Given the description of an element on the screen output the (x, y) to click on. 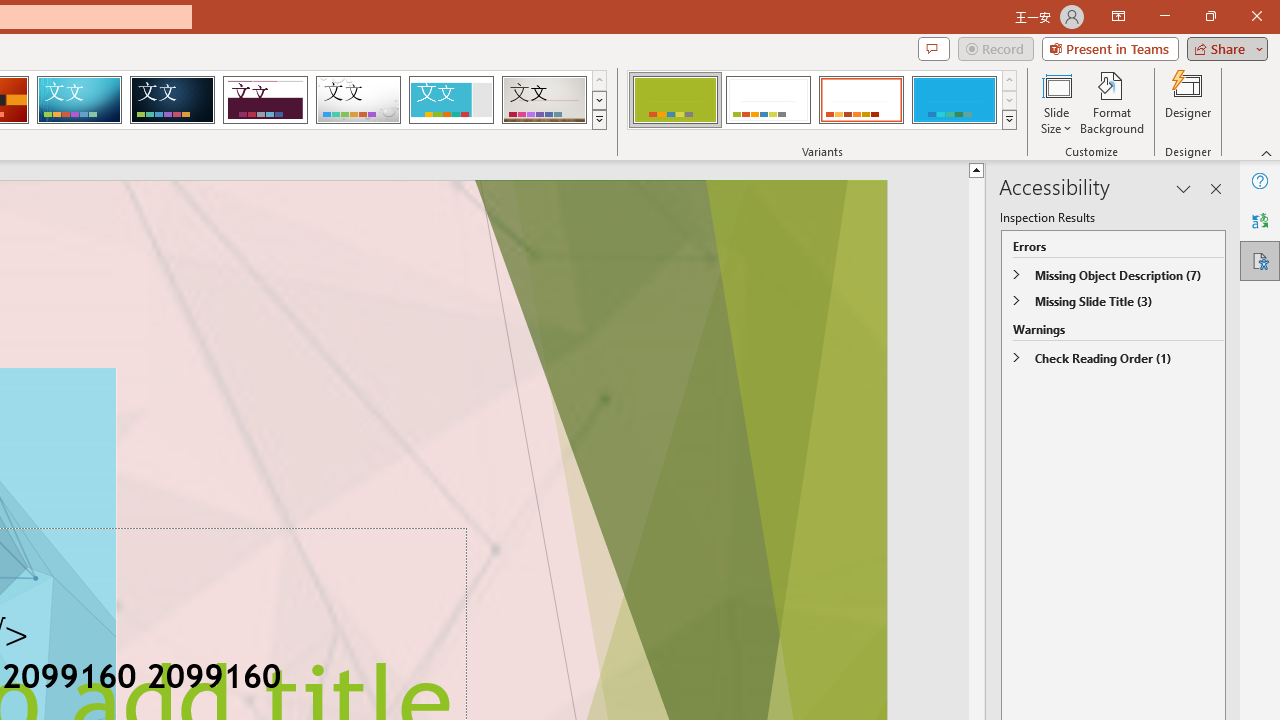
Format Background (1111, 102)
Basis Variant 3 (861, 100)
Dividend (265, 100)
Gallery (544, 100)
Variants (1009, 120)
